Given the description of an element on the screen output the (x, y) to click on. 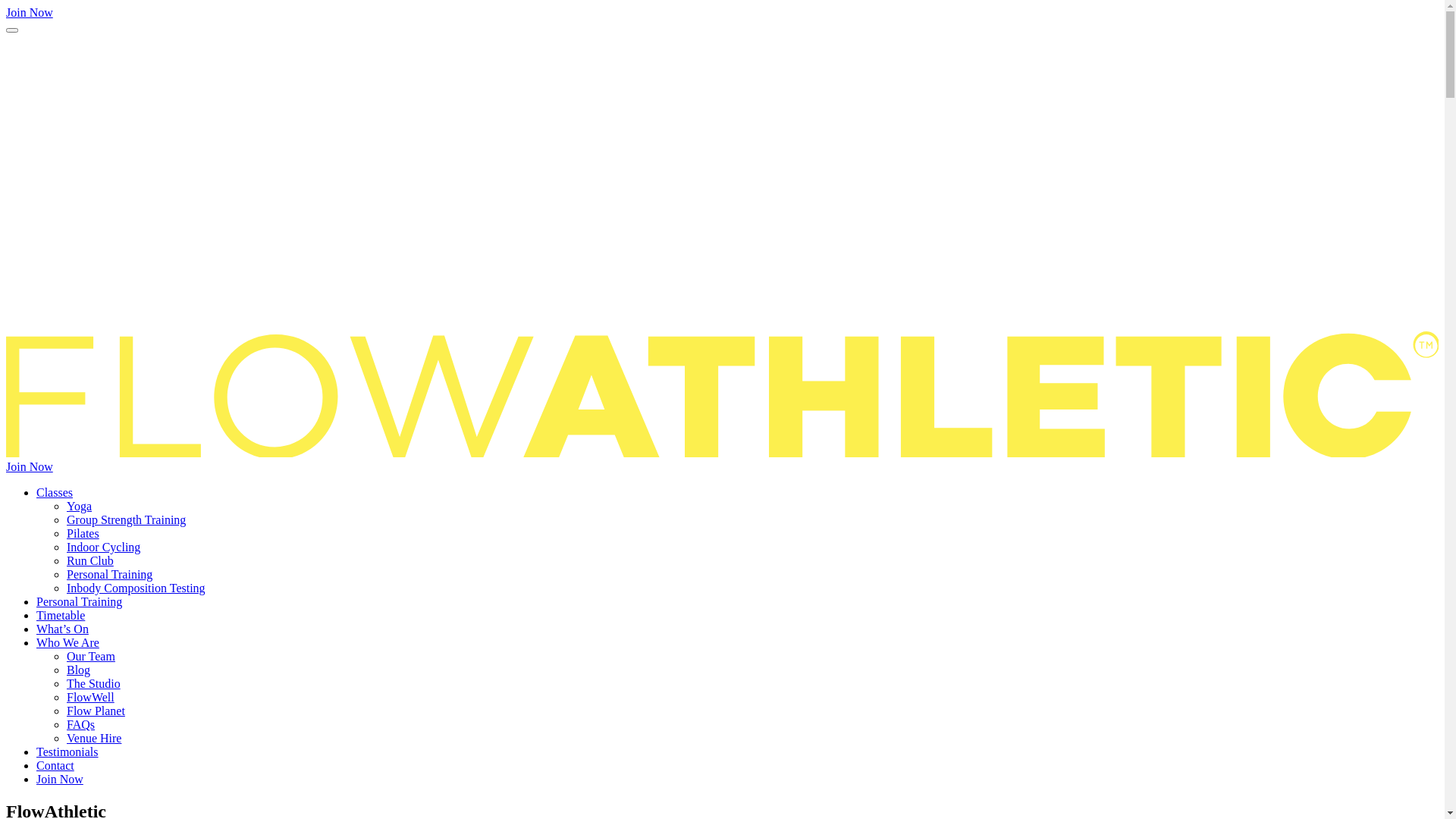
FAQs Element type: text (80, 724)
Join Now Element type: text (59, 778)
Join Now Element type: text (29, 12)
Run Club Element type: text (89, 560)
Testimonials Element type: text (67, 751)
Classes Element type: text (54, 492)
Blog Element type: text (78, 669)
Indoor Cycling Element type: text (103, 546)
Group Strength Training Element type: text (125, 519)
The Studio Element type: text (93, 683)
Our Team Element type: text (90, 655)
Who We Are Element type: text (67, 642)
Venue Hire Element type: text (93, 737)
Flow Athletic Element type: hover (722, 317)
Flow Planet Element type: text (95, 710)
Inbody Composition Testing Element type: text (135, 587)
Yoga Element type: text (78, 505)
Contact Element type: text (55, 765)
Flow Athletic Element type: hover (722, 452)
Personal Training Element type: text (109, 573)
Join Now Element type: text (29, 466)
FlowWell Element type: text (90, 696)
Pilates Element type: text (82, 533)
Timetable Element type: text (60, 614)
Personal Training Element type: text (79, 601)
